Given the description of an element on the screen output the (x, y) to click on. 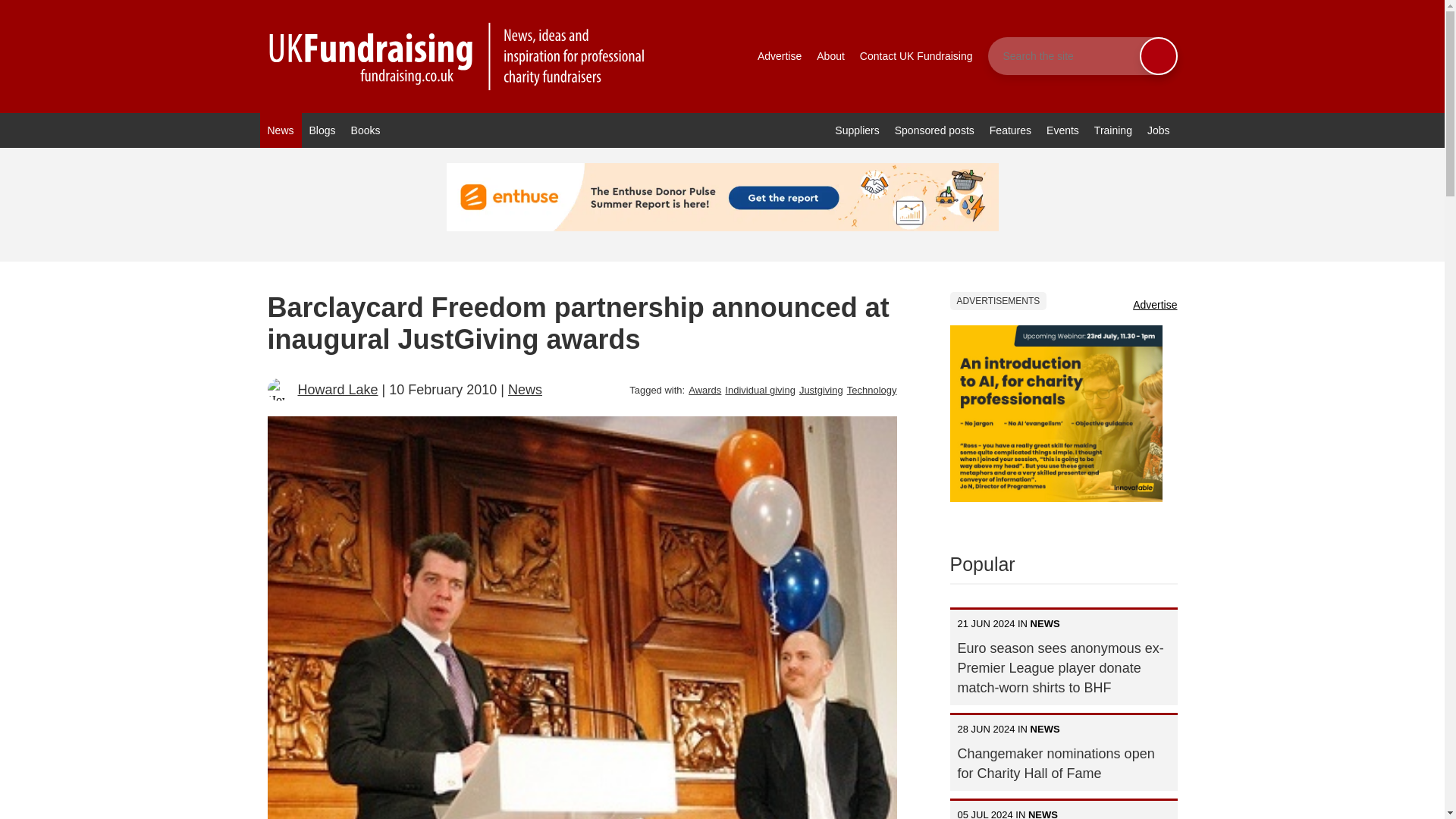
View posts in News (524, 389)
Advertise (779, 55)
Contact UK Fundraising (915, 55)
Sponsored posts (933, 130)
About (830, 55)
Howard Lake (337, 389)
Events (1062, 130)
News (280, 130)
Goto UK Fundraising homepage (456, 56)
Technology (871, 389)
Jobs (1158, 130)
Individual giving (759, 389)
Justgiving (821, 389)
Books (365, 130)
Suppliers (856, 130)
